Given the description of an element on the screen output the (x, y) to click on. 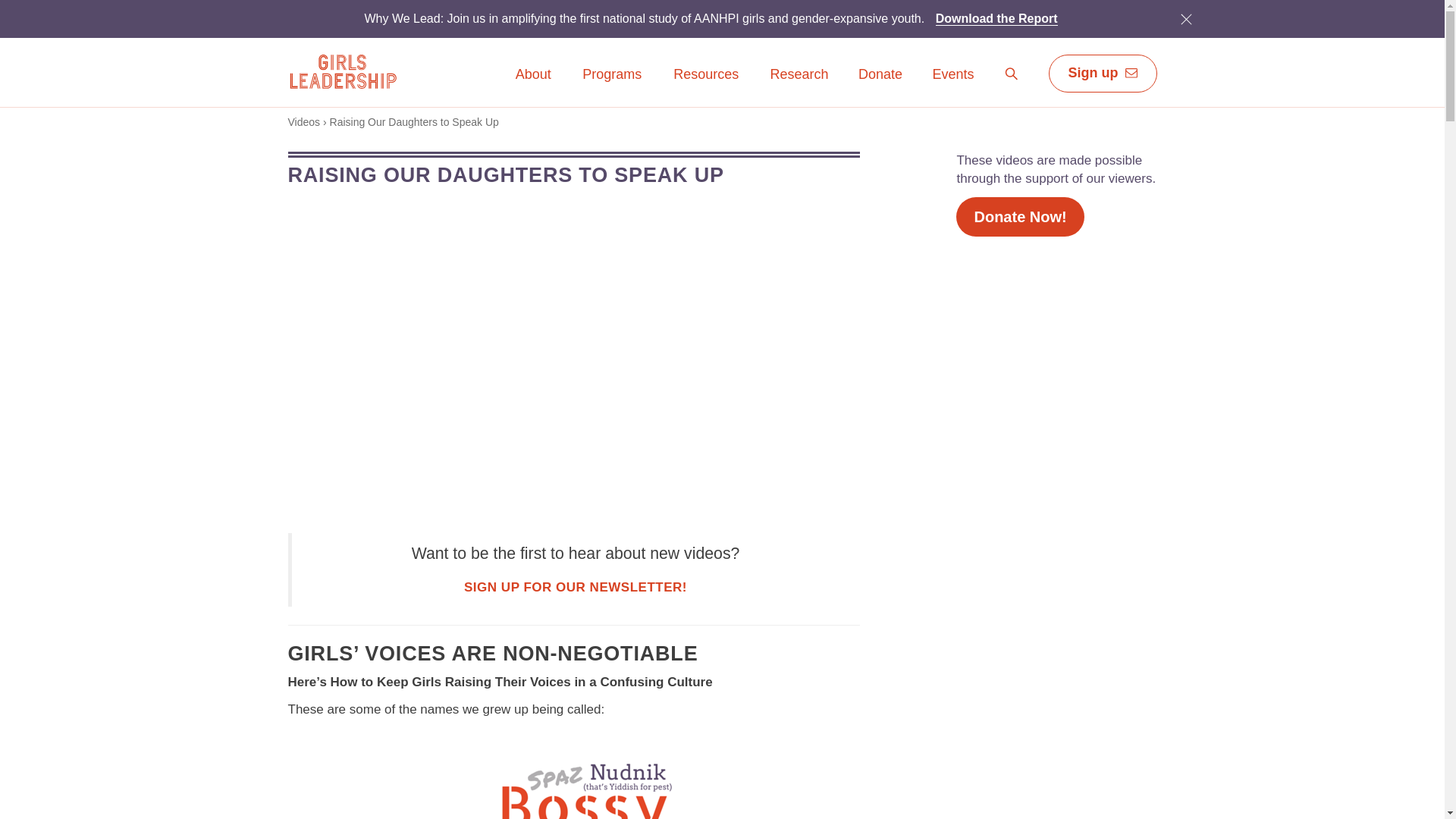
Download the Report (997, 18)
About (533, 75)
A6F524C7-72F2-47B1-896C-2077AF8665D0 (1183, 18)
Research (798, 75)
Resources (706, 84)
Resources (706, 75)
Events (952, 84)
Programs (611, 84)
Search (1012, 74)
Donate (879, 75)
Events (952, 75)
About (533, 84)
Girls Leadership (341, 71)
A6F524C7-72F2-47B1-896C-2077AF8665D0 (1185, 18)
Videos (304, 121)
